Given the description of an element on the screen output the (x, y) to click on. 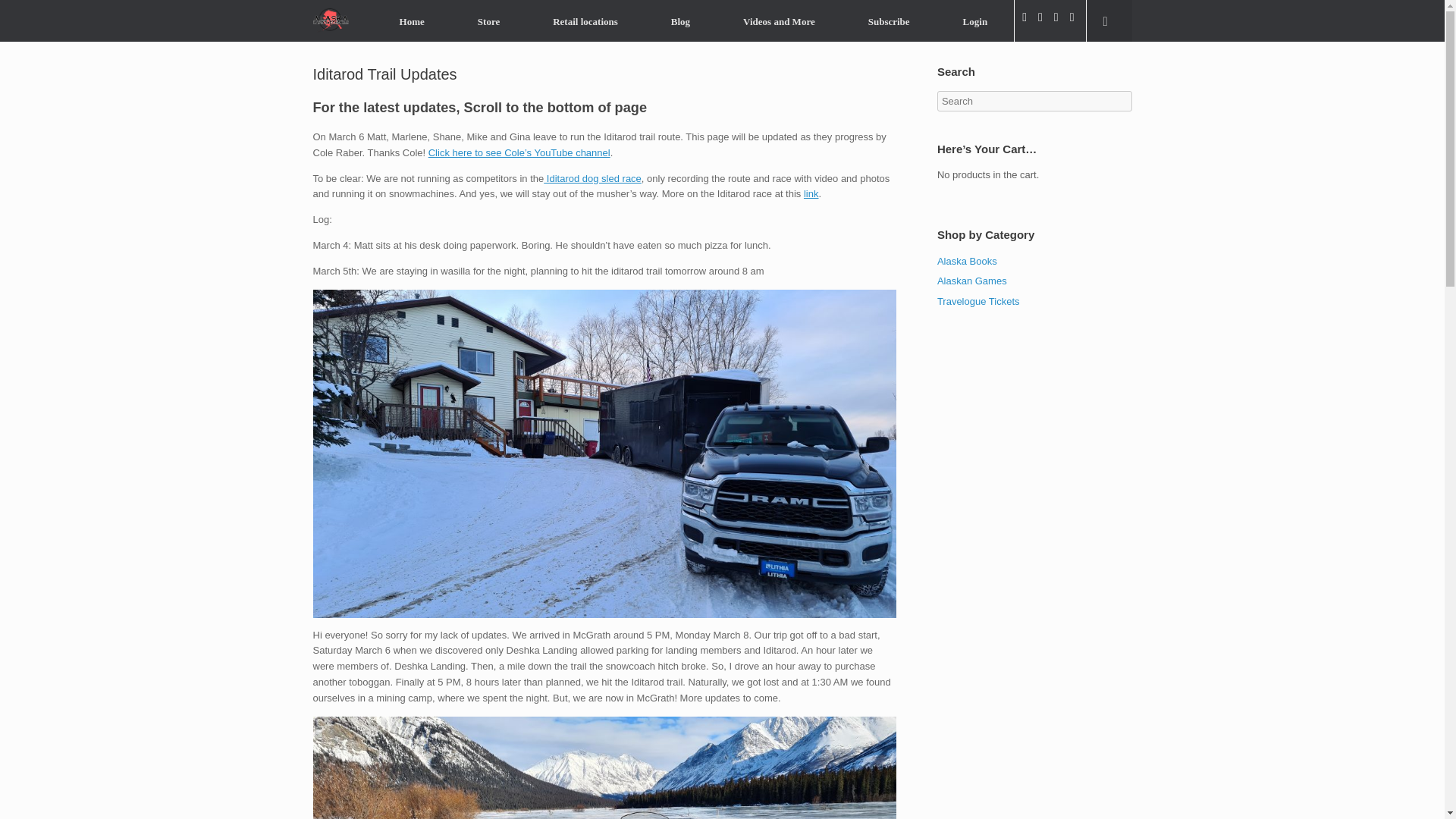
Alaska Books (967, 260)
link (810, 193)
Blog (680, 21)
Retail locations (585, 21)
Home (411, 21)
Subscribe (888, 21)
Login (975, 21)
Iditarod dog sled race (592, 178)
Videos and More (778, 21)
Store (488, 21)
